Given the description of an element on the screen output the (x, y) to click on. 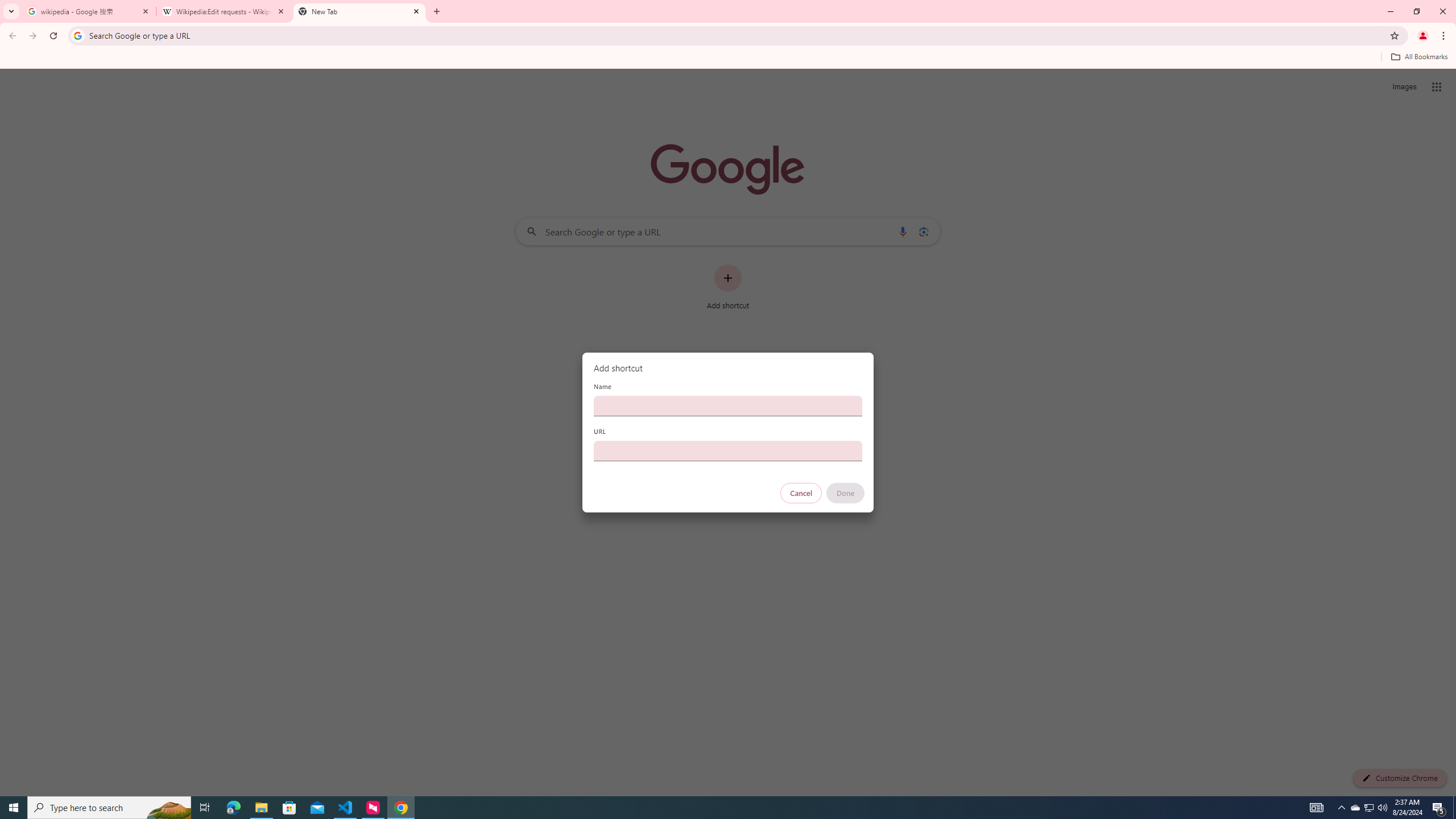
New Tab (359, 11)
